Given the description of an element on the screen output the (x, y) to click on. 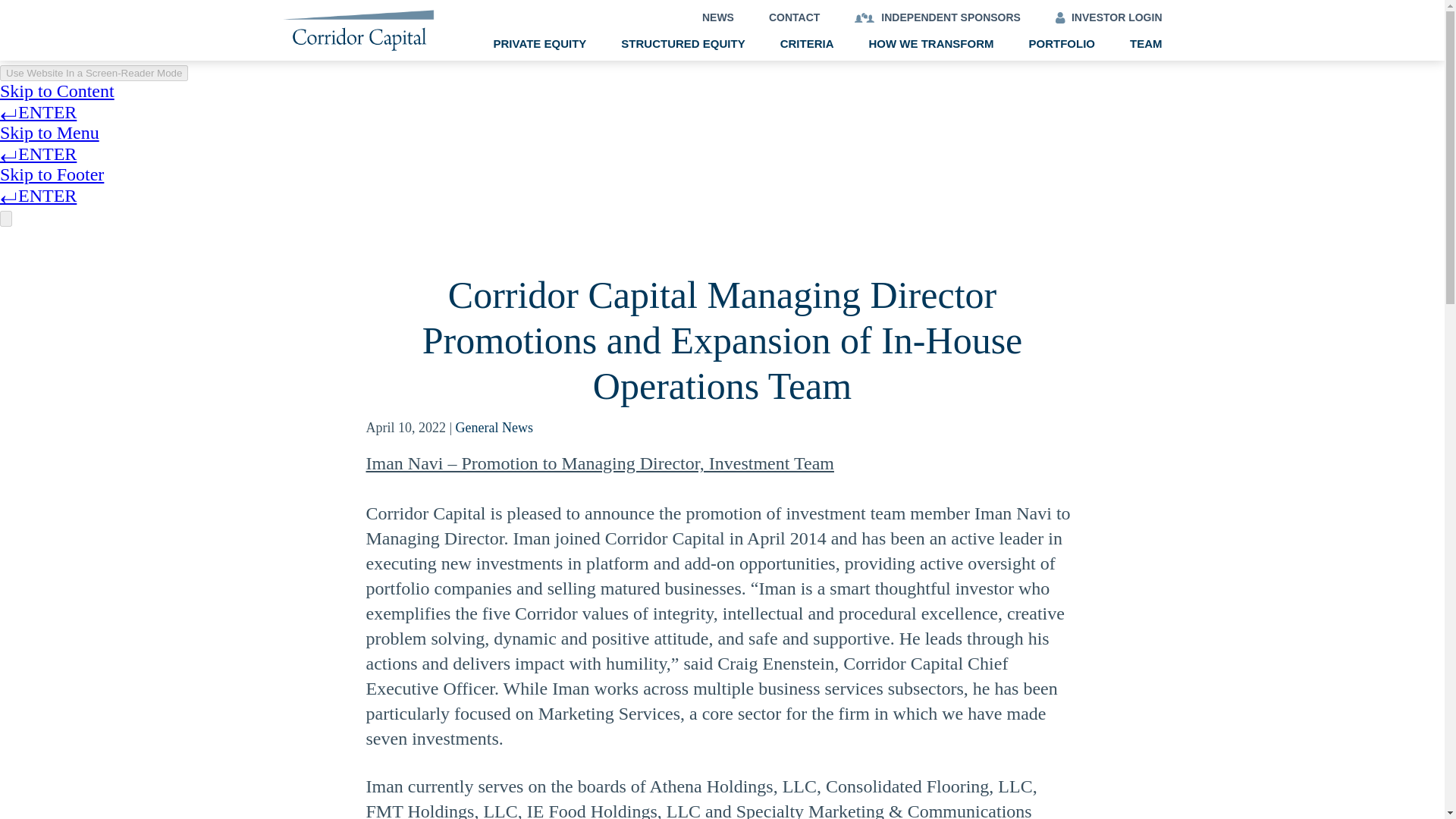
Corridor Capital (357, 46)
PRIVATE EQUITY (539, 42)
General News (493, 427)
TEAM (1145, 42)
NEWS (717, 17)
INVESTOR LOGIN (1108, 17)
CRITERIA (807, 42)
HOW WE TRANSFORM (931, 42)
STRUCTURED EQUITY (682, 42)
PORTFOLIO (1060, 42)
INDEPENDENT SPONSORS (937, 17)
CONTACT (793, 17)
